Given the description of an element on the screen output the (x, y) to click on. 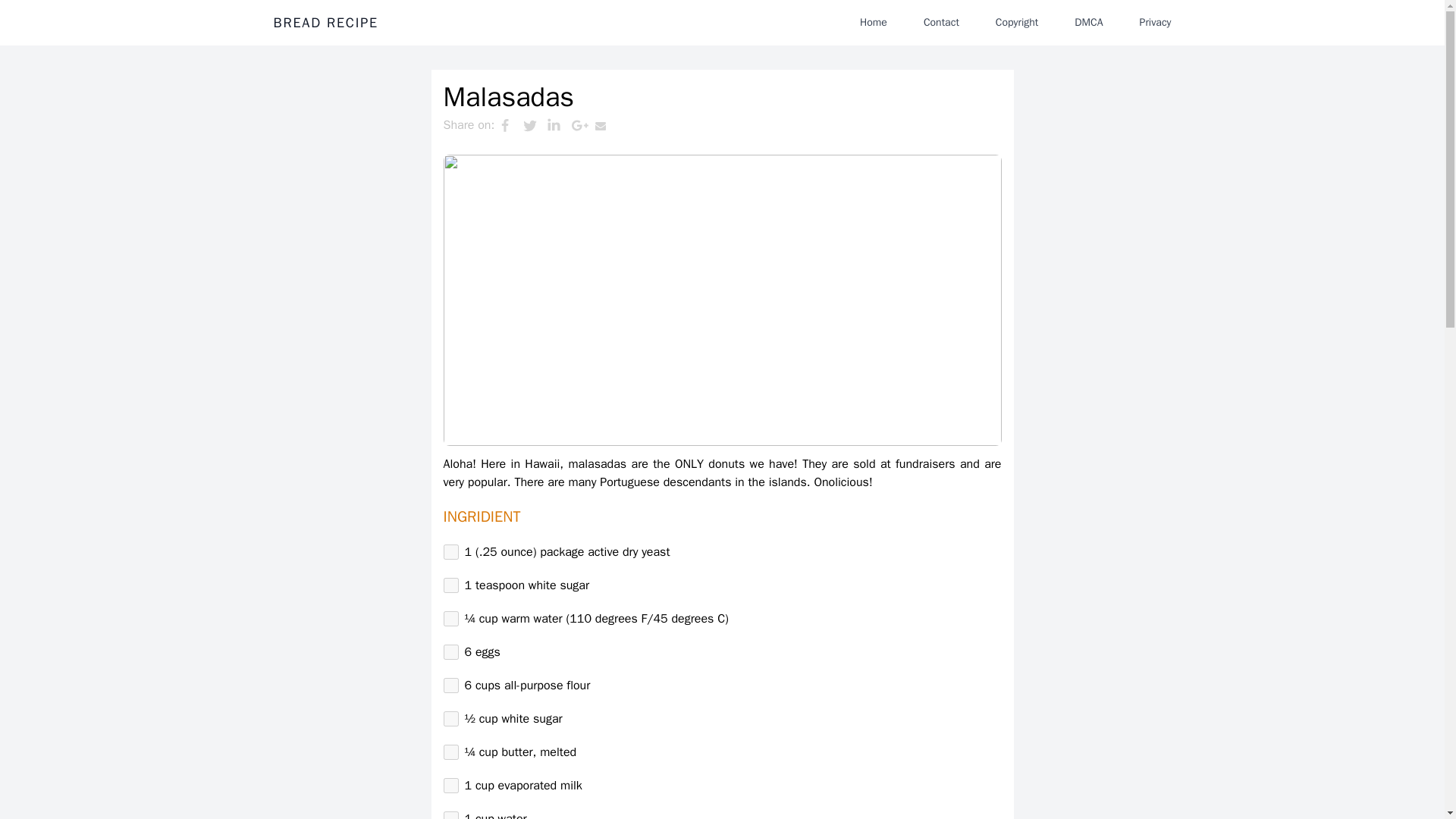
on (450, 551)
on (450, 685)
on (450, 718)
Contact (941, 22)
DMCA (1088, 22)
Share this on Twitter (534, 125)
Home (873, 22)
Privacy (1154, 22)
Copyright (1016, 22)
on (450, 752)
Share this on Linkedin (558, 125)
on (450, 785)
Share this through Email (607, 125)
on (450, 815)
on (450, 585)
